Given the description of an element on the screen output the (x, y) to click on. 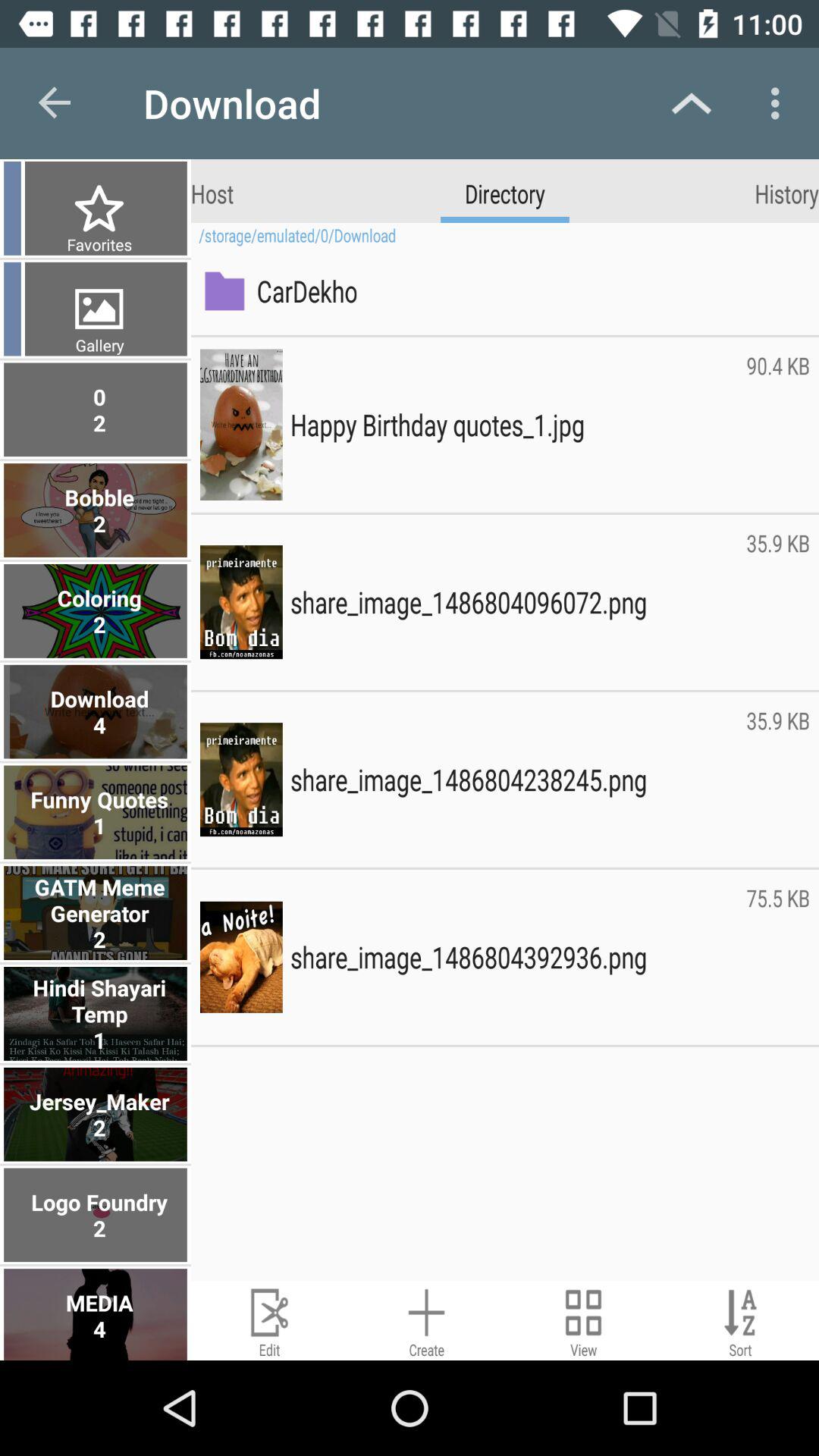
click the icon next to storage emulated 0 (97, 244)
